Given the description of an element on the screen output the (x, y) to click on. 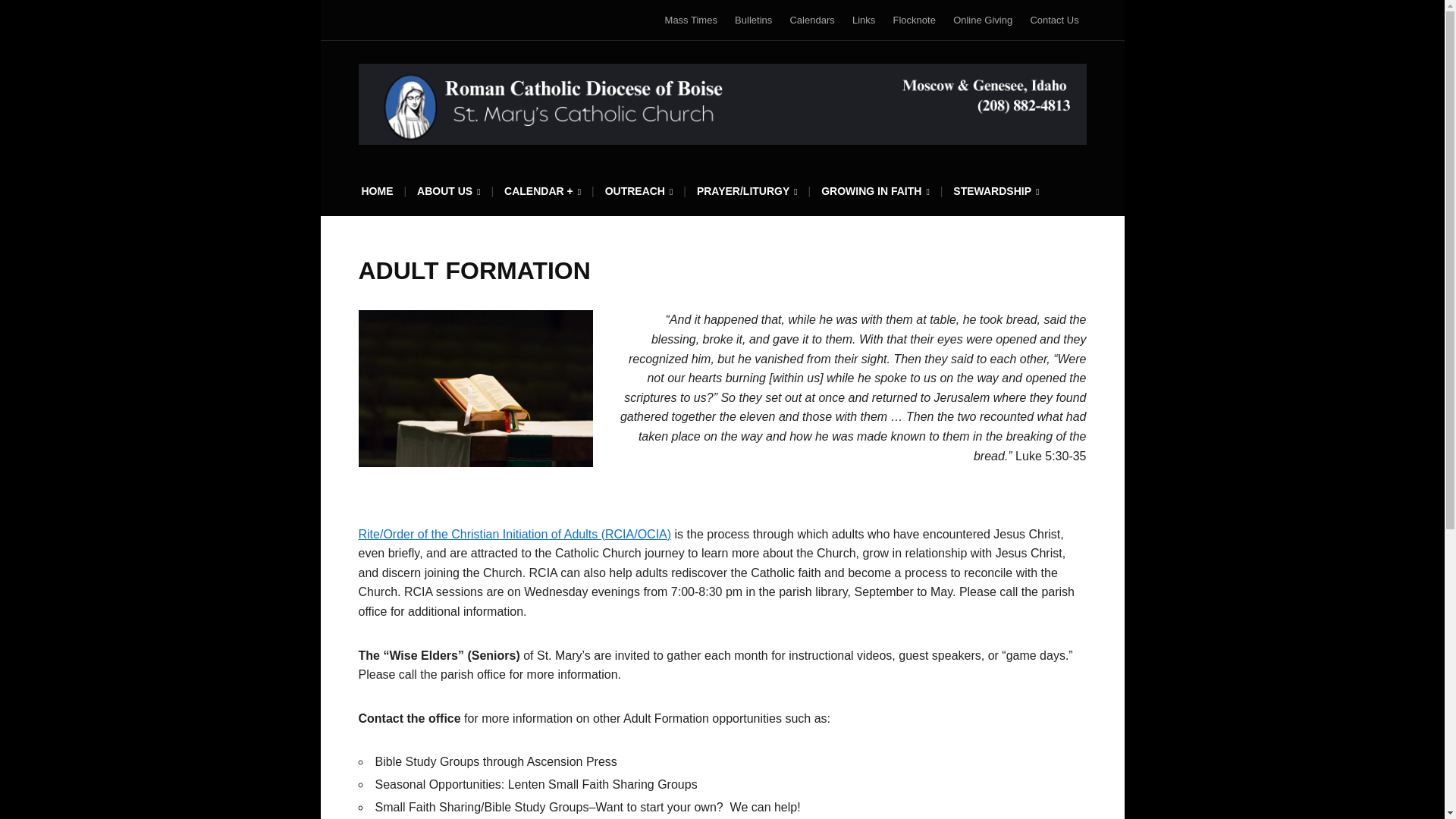
Contact Us (1053, 19)
Calendars (811, 19)
Bulletins (753, 19)
ABOUT US (448, 196)
HOME (377, 195)
Flocknote (914, 19)
Mass Times (691, 19)
Links (863, 19)
Online Giving (982, 19)
